Given the description of an element on the screen output the (x, y) to click on. 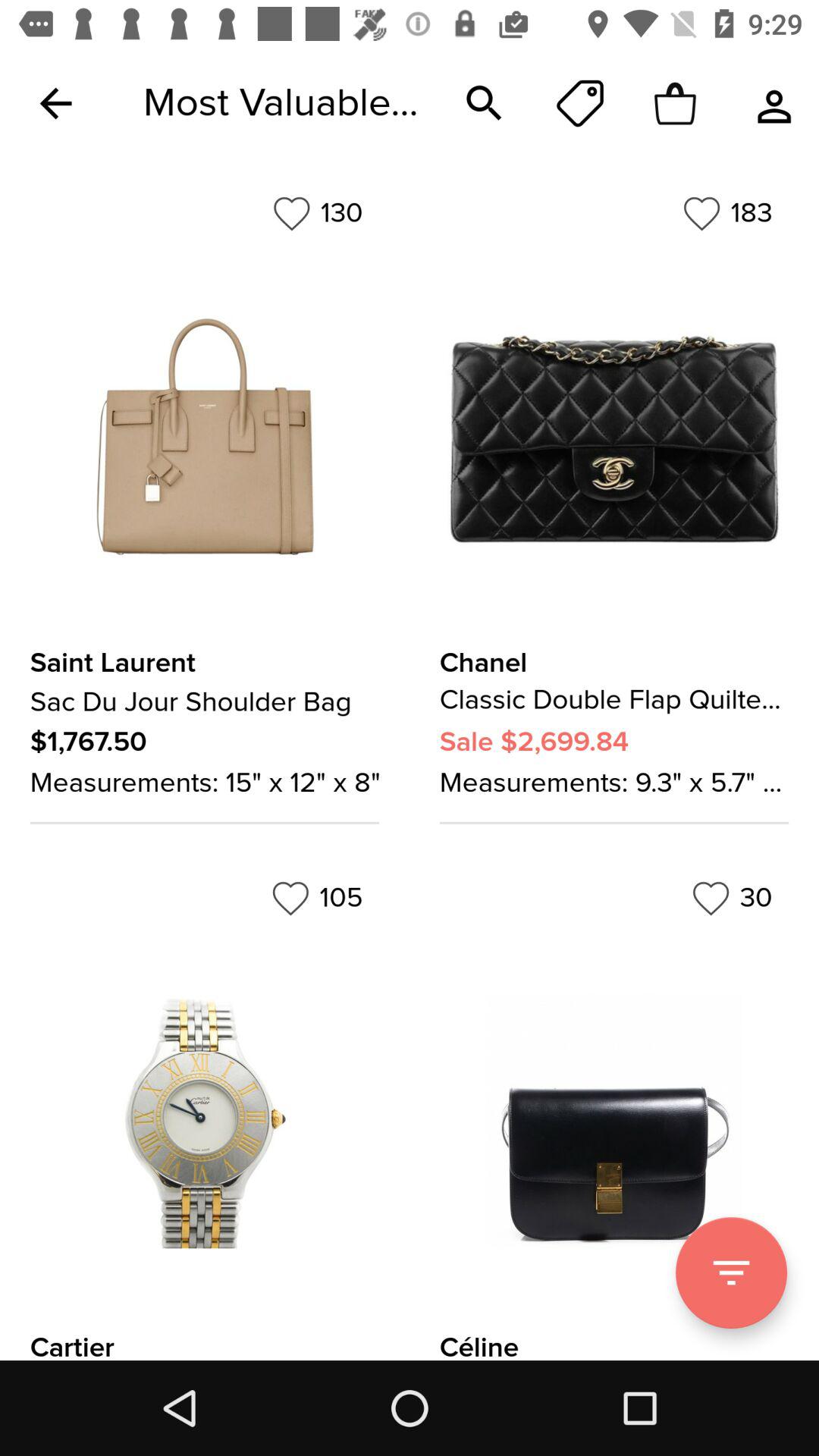
scroll further down the page (731, 1272)
